Given the description of an element on the screen output the (x, y) to click on. 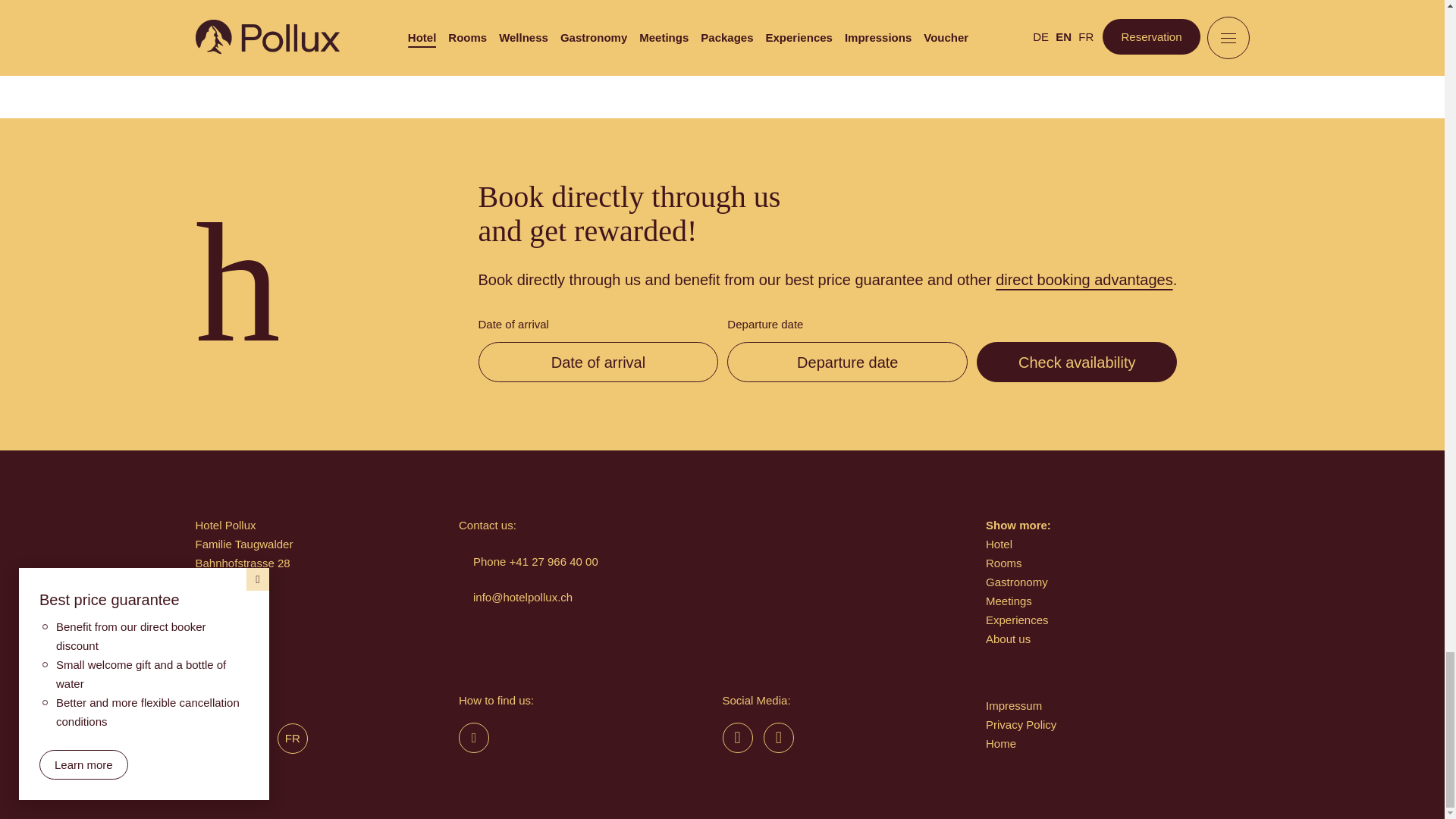
Check availability (1076, 362)
